Given the description of an element on the screen output the (x, y) to click on. 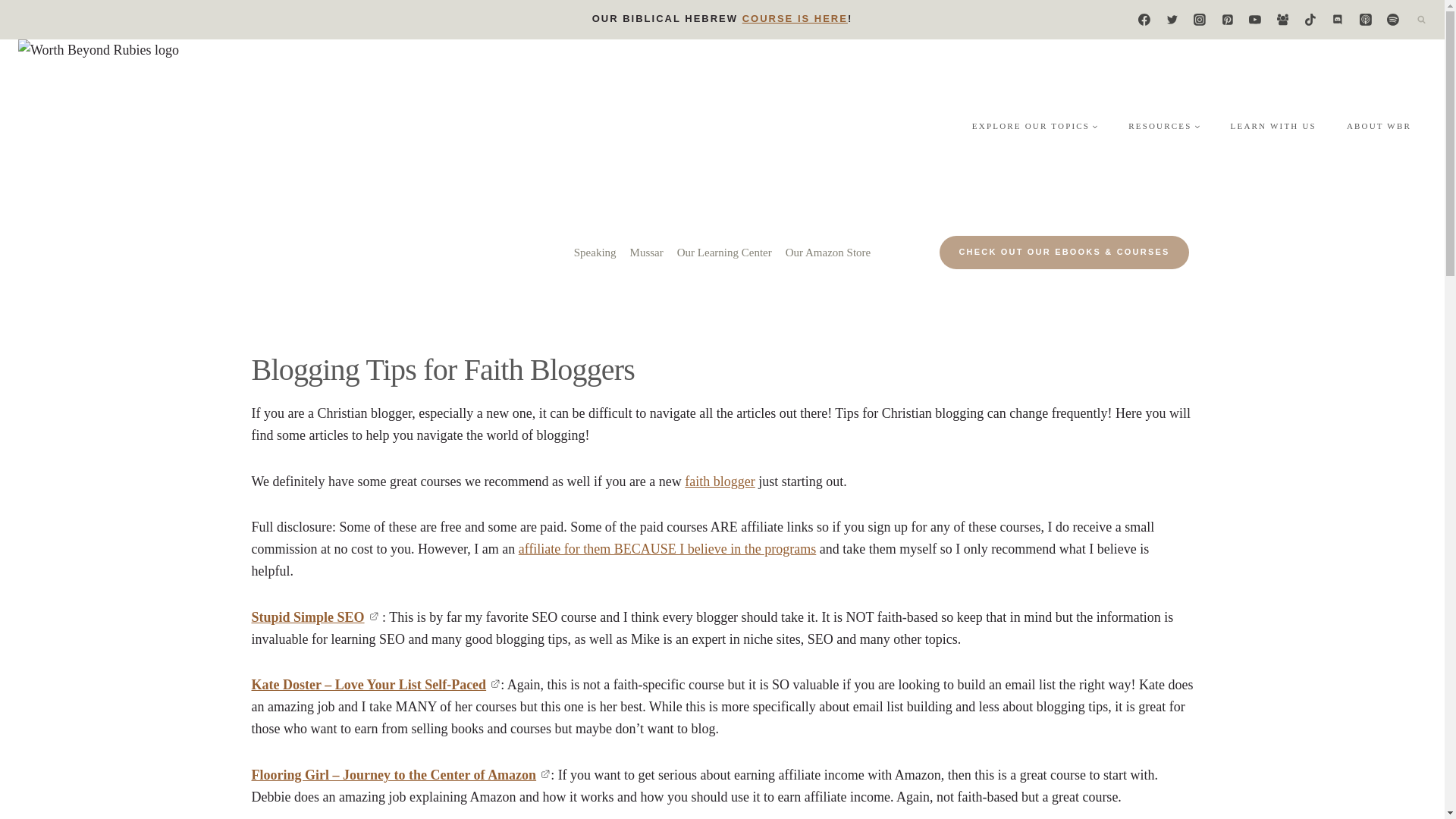
Our Amazon Store (827, 252)
RESOURCES (1163, 126)
Link goes to external site. (545, 774)
COURSE IS HERE (794, 18)
ABOUT WBR (1379, 126)
Link goes to external site. (494, 684)
Mussar (646, 252)
Link goes to external site. (373, 616)
EXPLORE OUR TOPICS (1034, 126)
Our Learning Center (723, 252)
LEARN WITH US (1273, 126)
Speaking (595, 252)
